Given the description of an element on the screen output the (x, y) to click on. 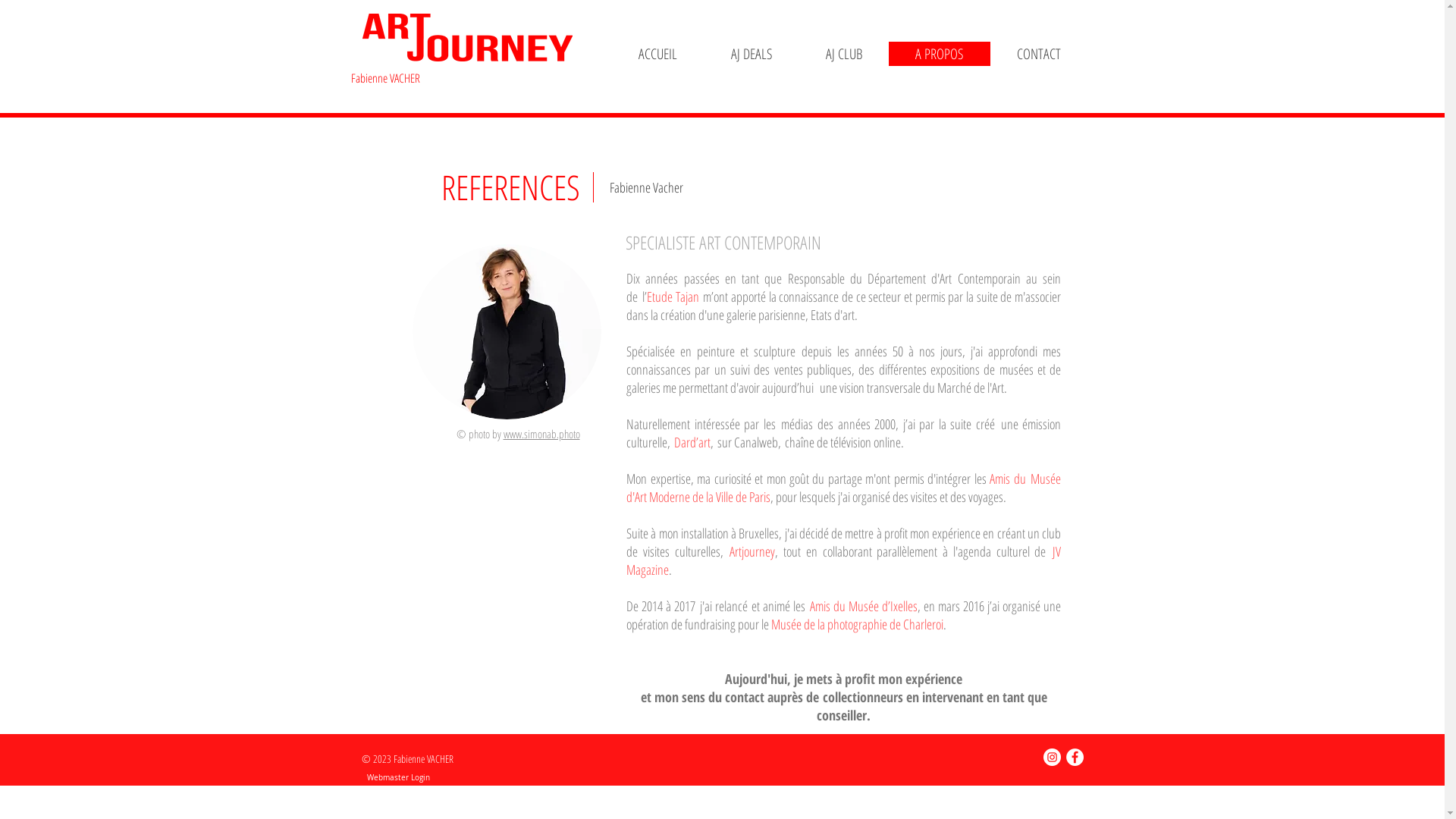
AJ CLUB Element type: text (843, 53)
Webmaster Login Element type: text (397, 777)
ACCUEIL Element type: text (656, 53)
AJ DEALS Element type: text (751, 53)
logo_rouge.png Element type: hover (467, 37)
Fabienne VACHER Element type: text (384, 77)
A PROPOS Element type: text (939, 53)
CONTACT Element type: text (1038, 53)
www.simonab.photo Element type: text (541, 433)
FABIENNE 8016.jpeg Element type: hover (506, 331)
